Given the description of an element on the screen output the (x, y) to click on. 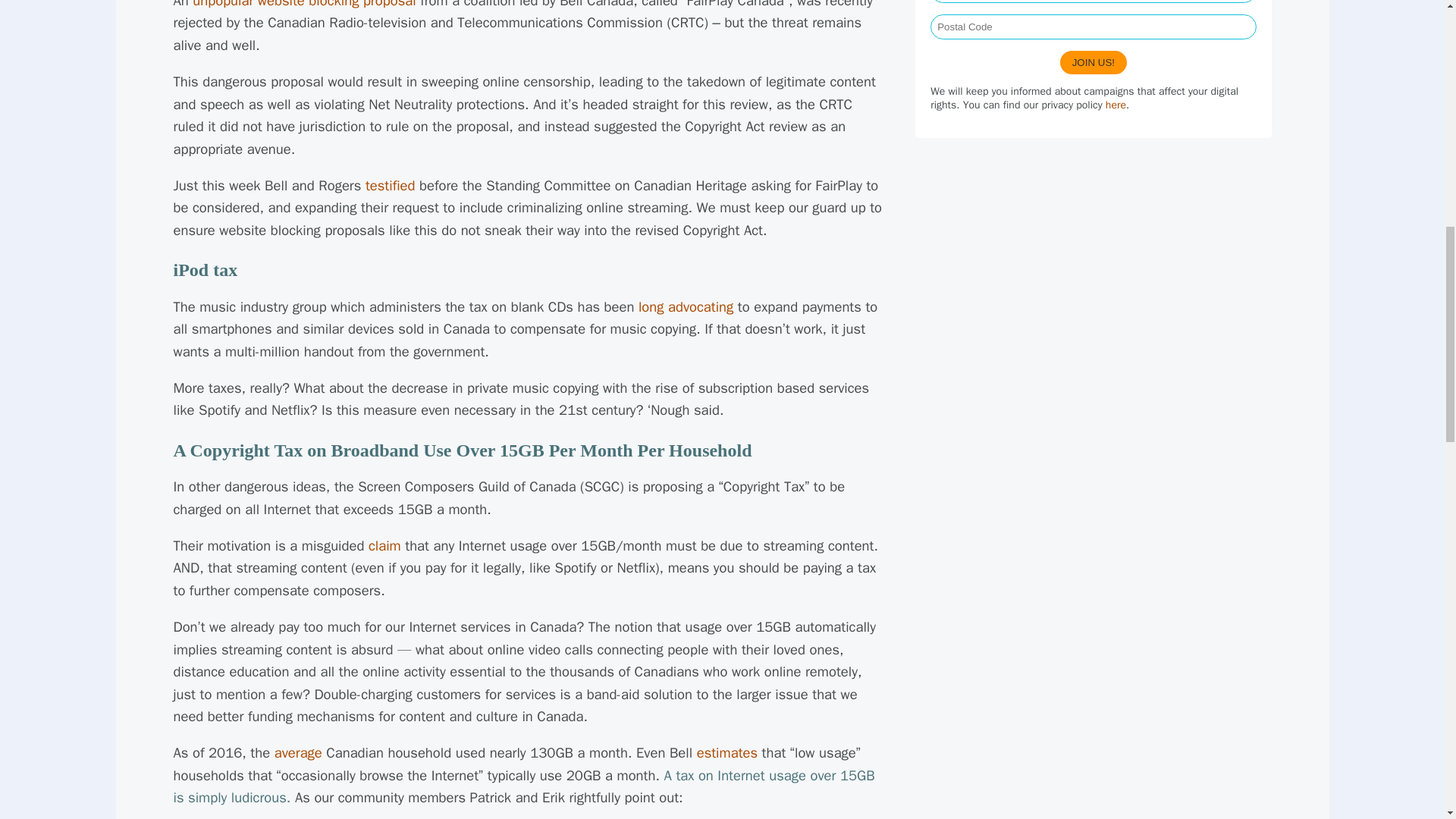
unpopular website blocking proposal (303, 4)
long advocating (686, 306)
testified (389, 185)
